Given the description of an element on the screen output the (x, y) to click on. 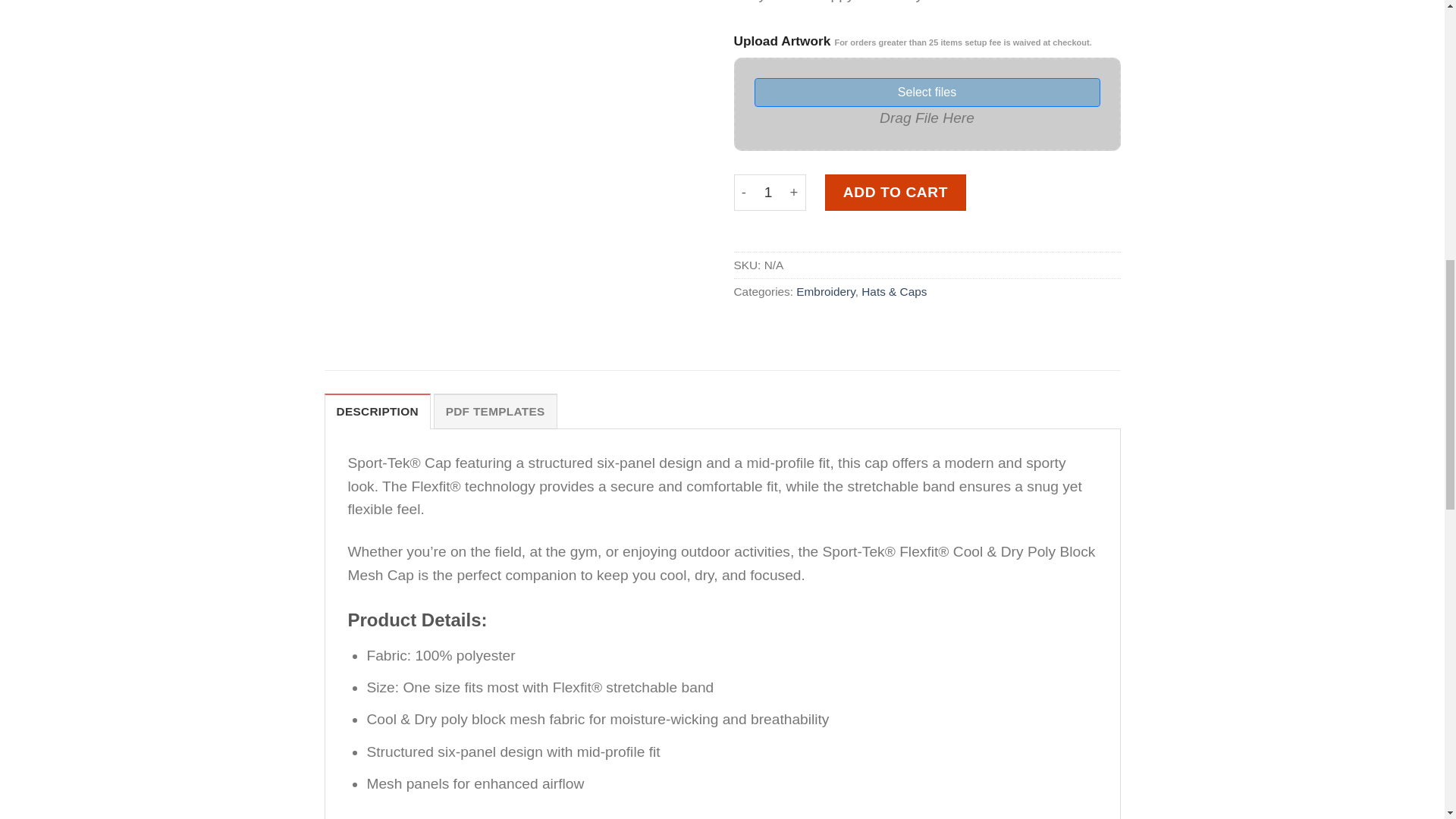
ADD TO CART (895, 192)
Select files (926, 92)
